Given the description of an element on the screen output the (x, y) to click on. 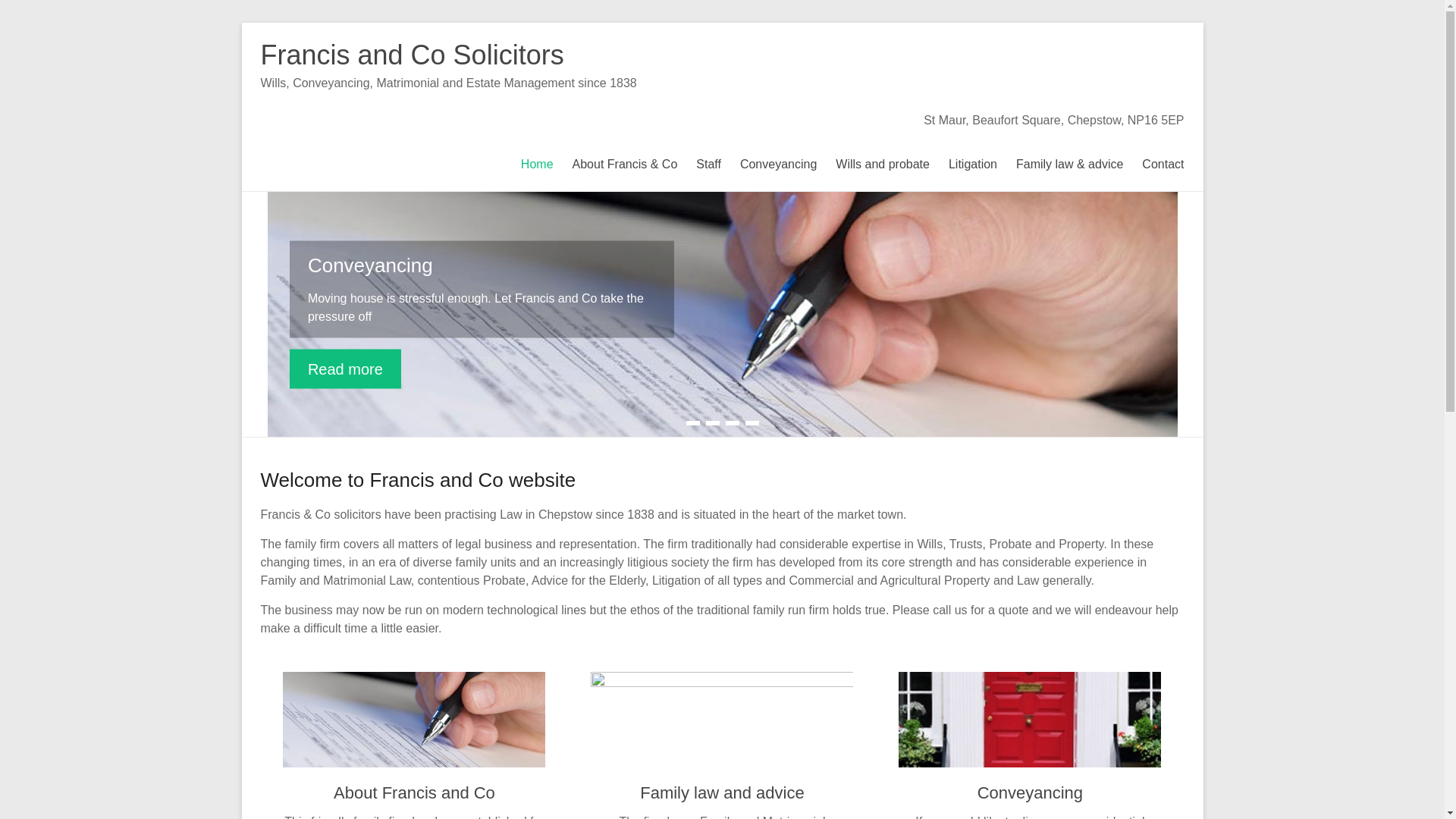
Conveyancing (1029, 792)
About Francis and Co (414, 792)
Francis and Co Solicitors (412, 54)
Family law and advice (721, 792)
About Francis and Co (414, 792)
Contact (1162, 161)
Read more (345, 368)
Conveyancing (369, 264)
Francis and Co Solicitors (412, 54)
Wills and probate (882, 161)
Conveyancing (777, 161)
Conveyancing (345, 368)
Conveyancing (1029, 792)
Home (537, 161)
Conveyancing (369, 264)
